Given the description of an element on the screen output the (x, y) to click on. 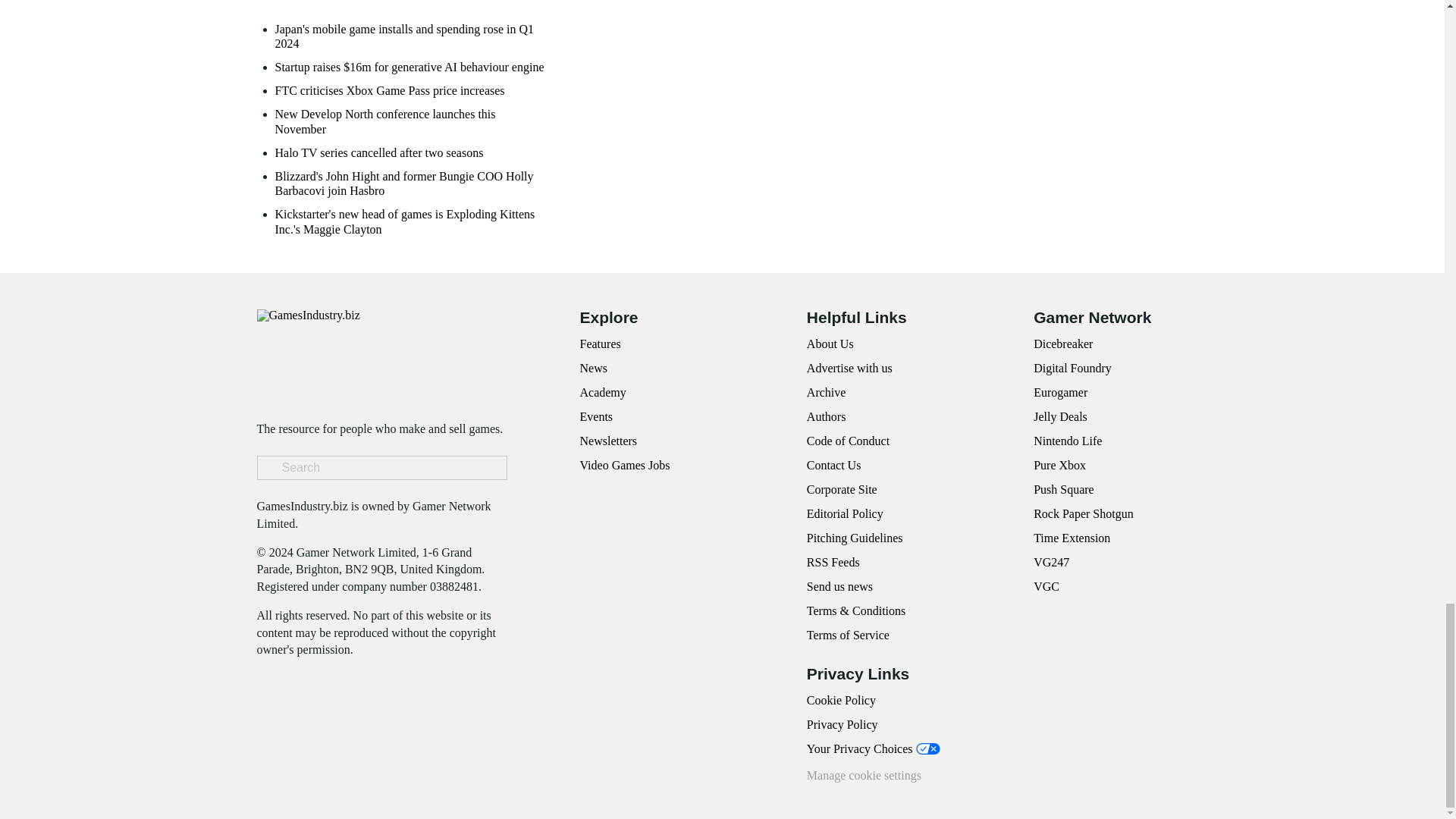
Pure Xbox (1059, 464)
Academy (602, 391)
Features (599, 343)
VG247 (1050, 562)
Authors (825, 416)
About Us (829, 343)
Corporate Site (841, 489)
Terms of Service (847, 634)
Dicebreaker (1063, 343)
Your Privacy Choices (873, 748)
About Us (829, 343)
Editorial Policy (844, 513)
Send us news (839, 585)
Advertise with us (849, 367)
Cookie Policy (841, 699)
